Given the description of an element on the screen output the (x, y) to click on. 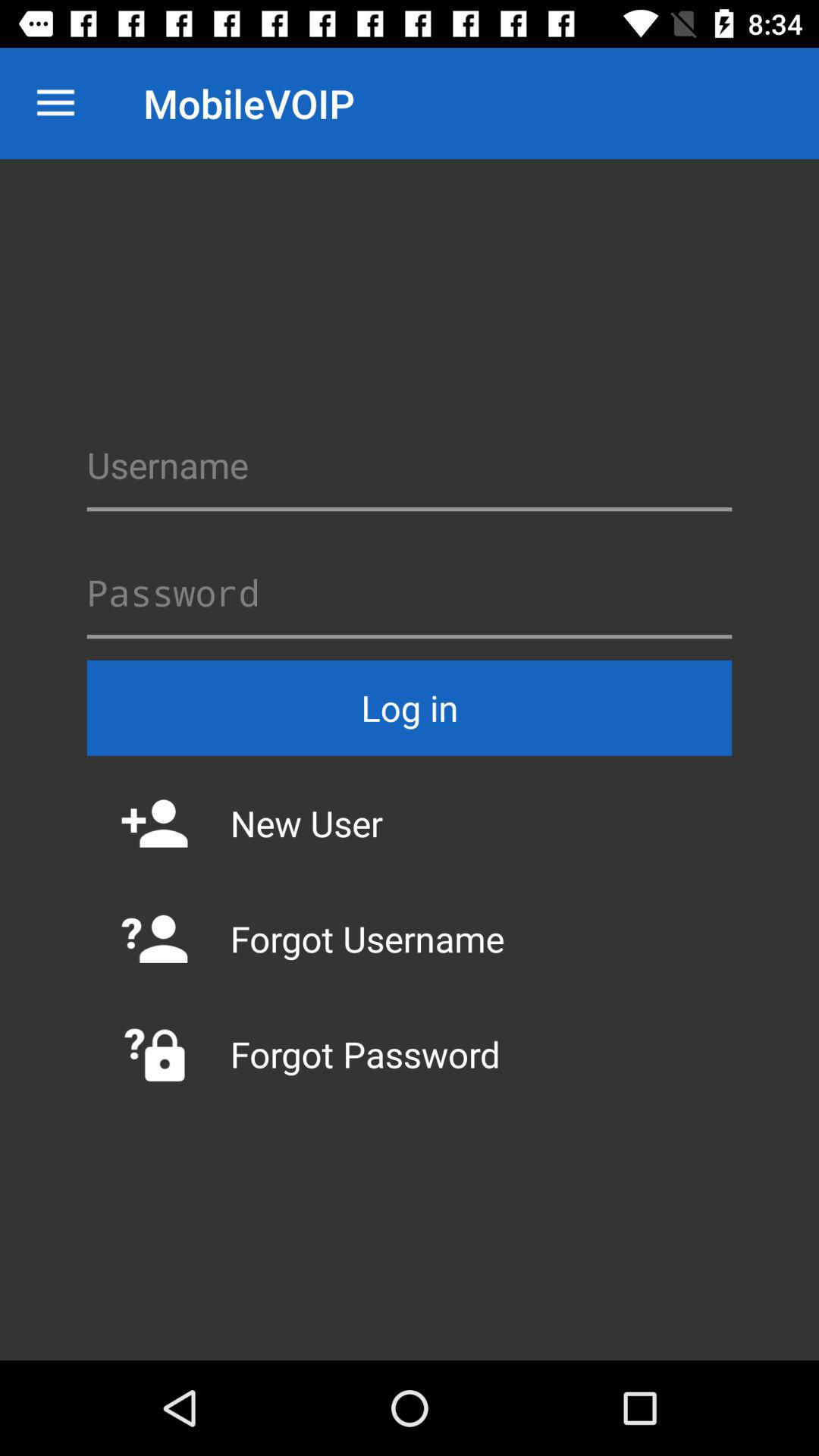
open new user (409, 823)
